Given the description of an element on the screen output the (x, y) to click on. 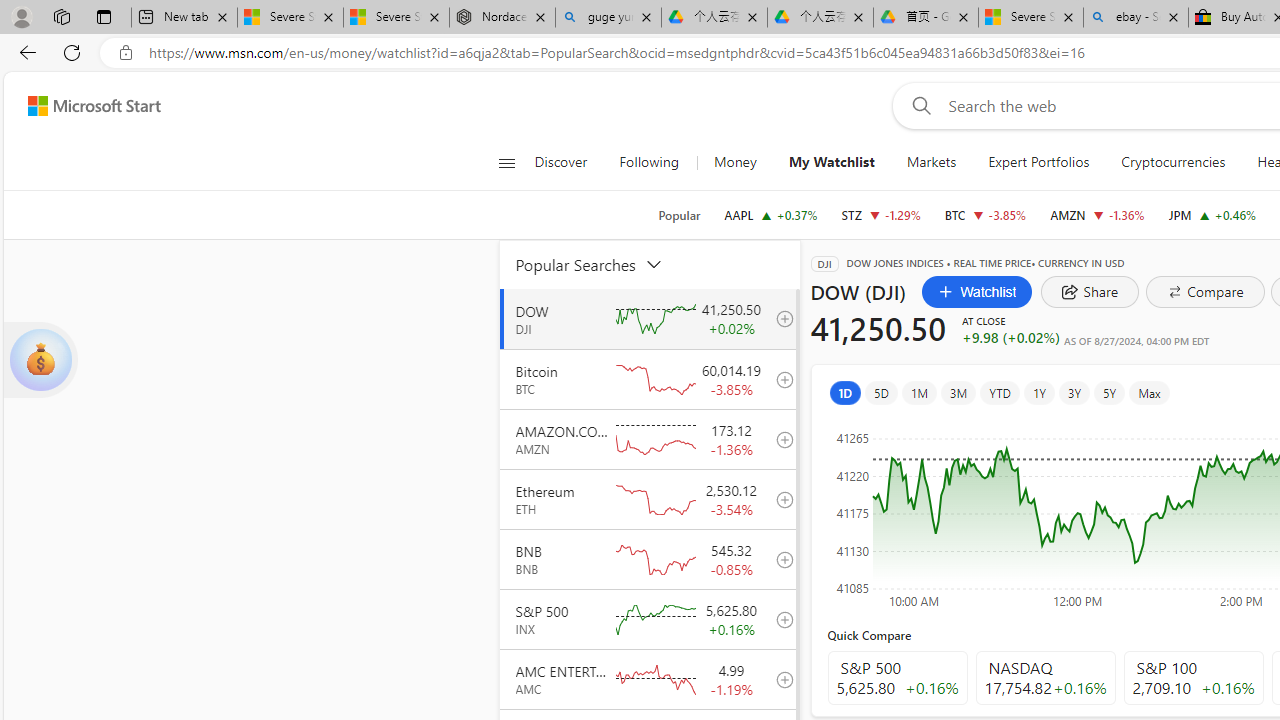
AAPL APPLE INC. increase 228.03 +0.85 +0.37% (770, 214)
STZ CONSTELLATION BRANDS, INC. decrease 239.98 -3.13 -1.29% (881, 214)
Class: button-glyph (505, 162)
Watchlist (976, 291)
guge yunpan - Search (607, 17)
3Y (1074, 392)
Web search (917, 105)
Expert Portfolios (1039, 162)
3M (958, 392)
1Y (1038, 392)
Open navigation menu (506, 162)
Popular Searches (601, 264)
